Given the description of an element on the screen output the (x, y) to click on. 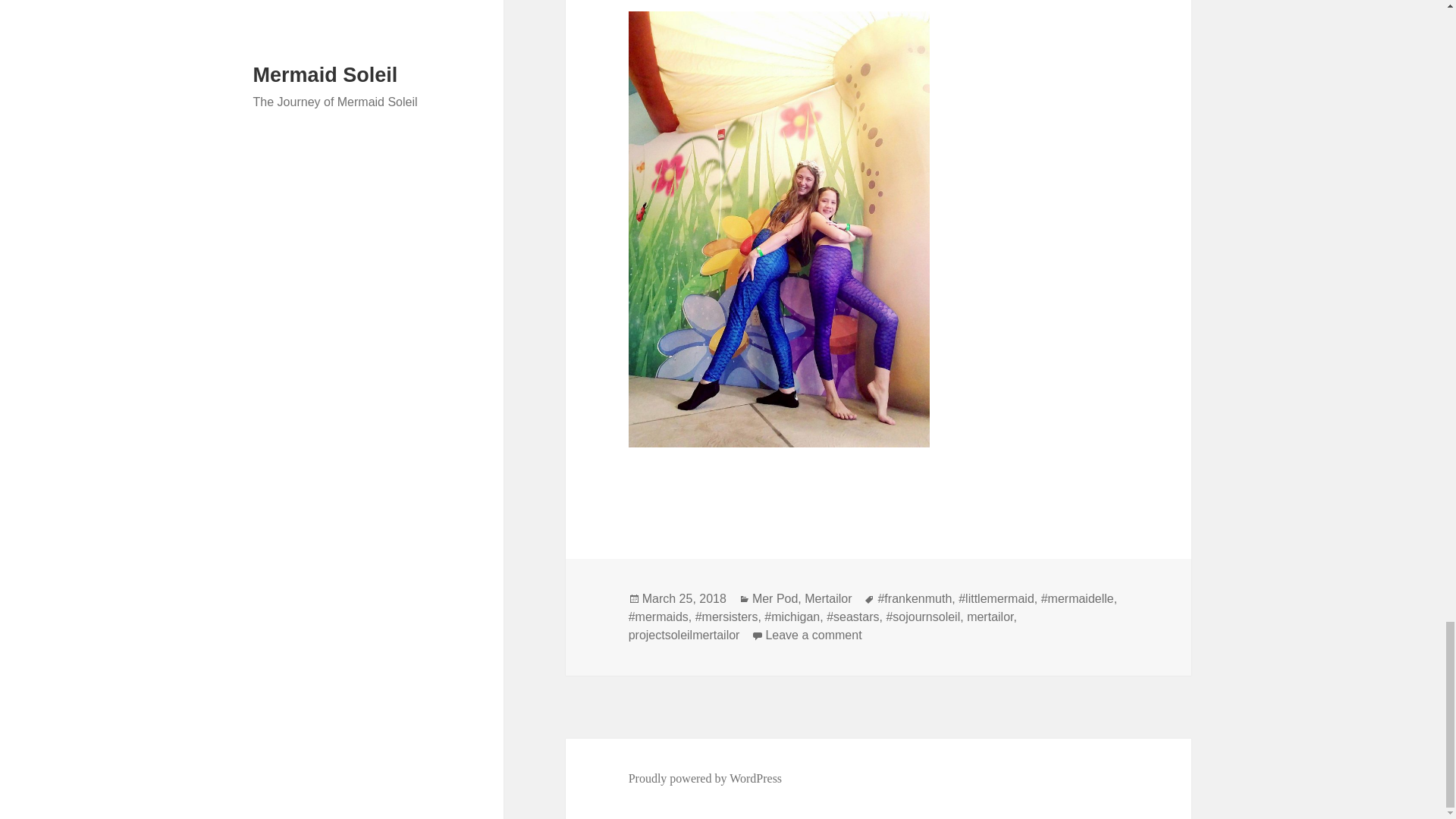
Mertailor (828, 599)
Mer Pod (774, 599)
projectsoleilmertailor (683, 635)
mertailor (989, 617)
Proudly powered by WordPress (704, 778)
March 25, 2018 (813, 635)
